Given the description of an element on the screen output the (x, y) to click on. 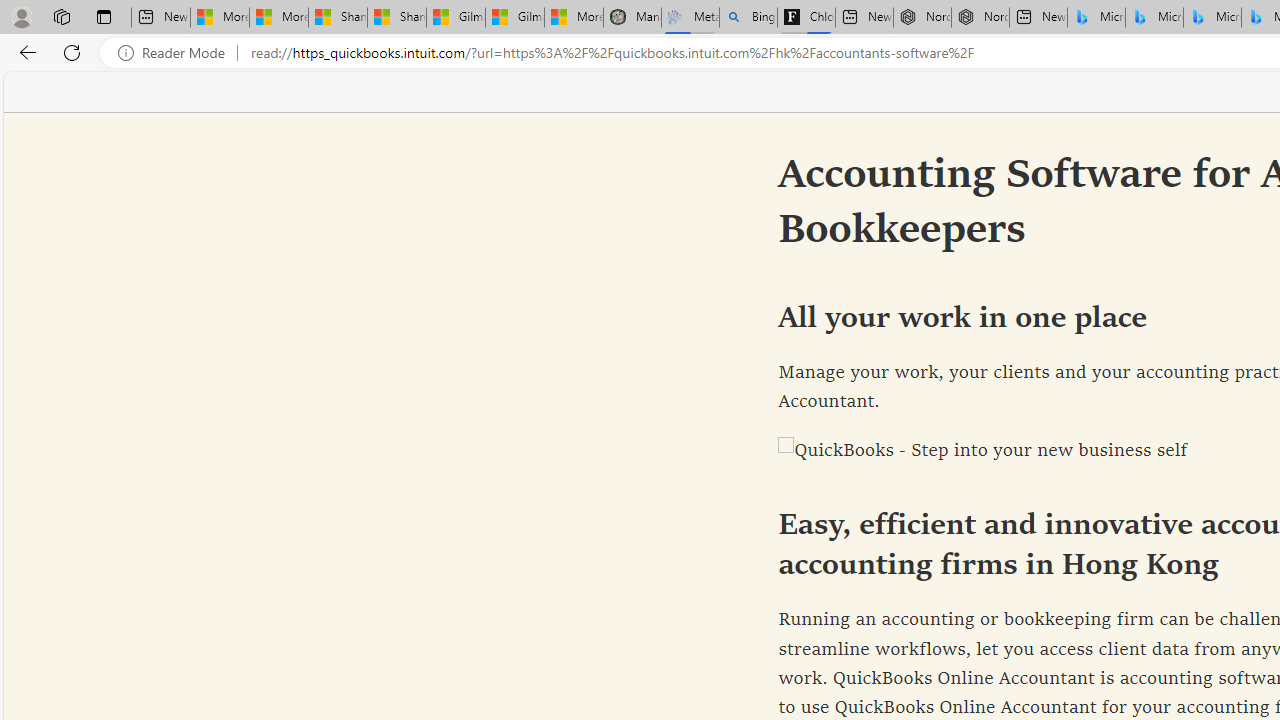
Microsoft Bing Travel - Shangri-La Hotel Bangkok (1212, 17)
